Given the description of an element on the screen output the (x, y) to click on. 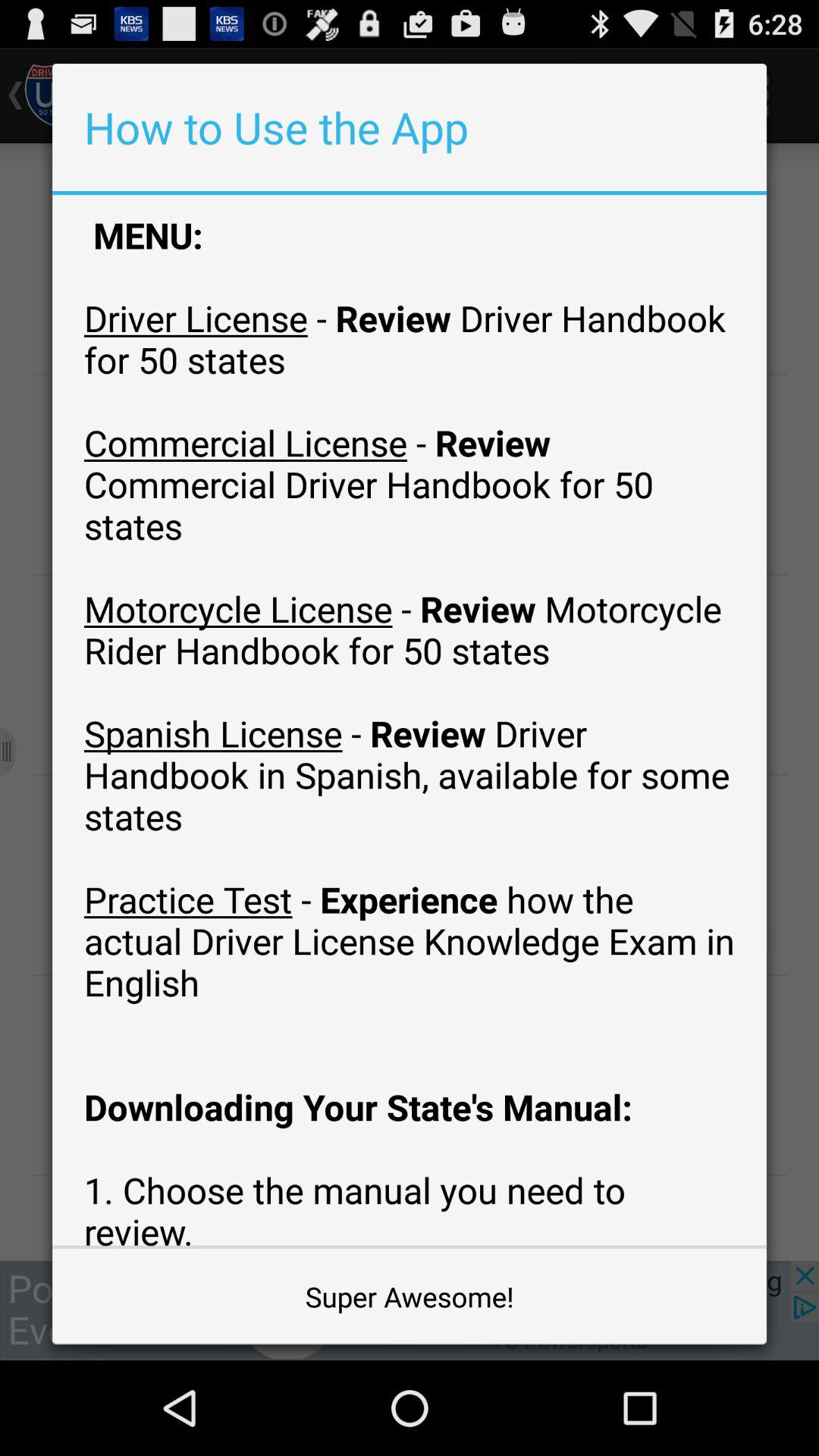
press super awesome! item (409, 1296)
